Given the description of an element on the screen output the (x, y) to click on. 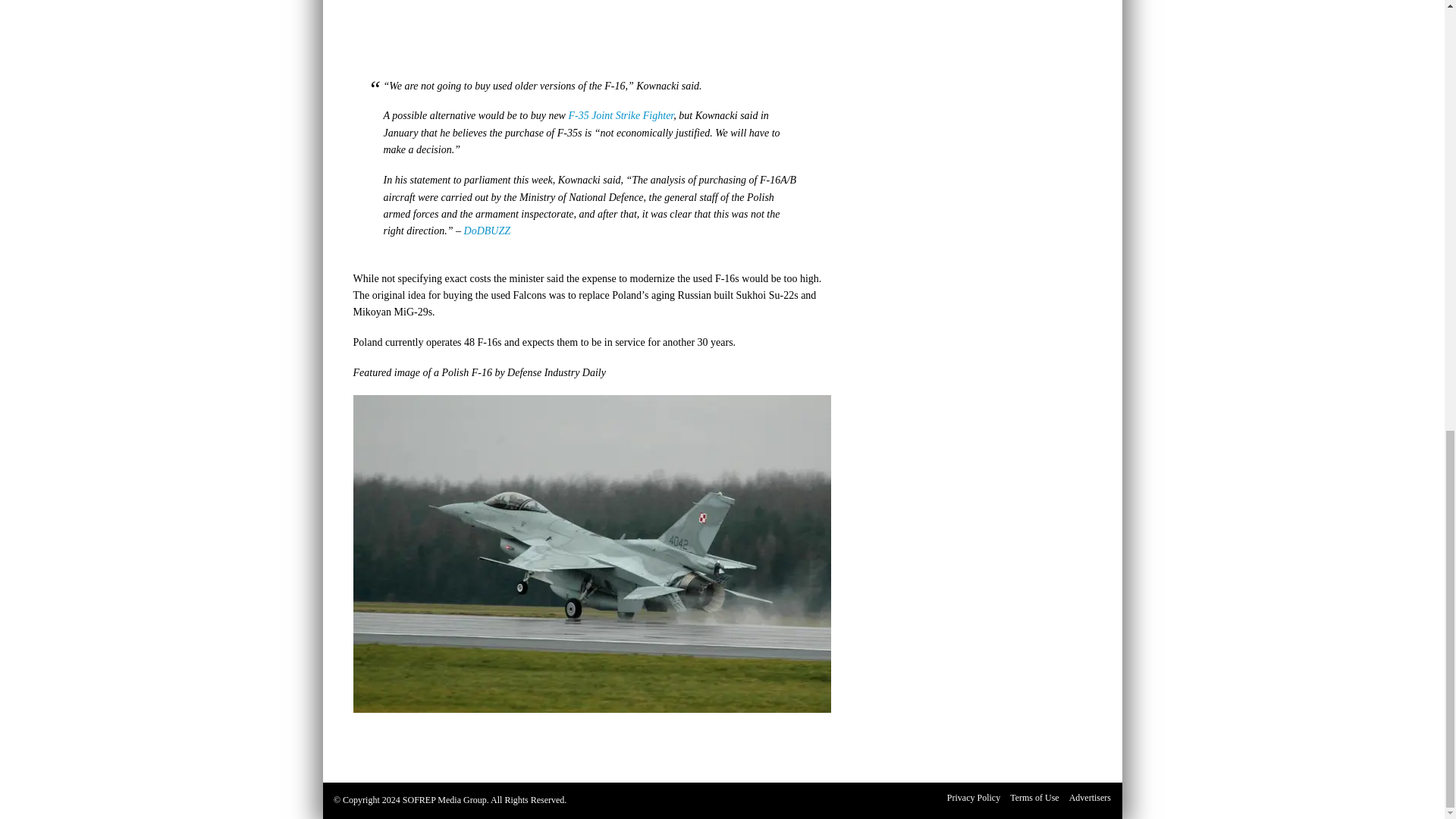
Terms of Use (1034, 797)
Advertisers (1089, 797)
DoDBUZZ (487, 230)
Privacy Policy (973, 797)
SOFREP Media Group (444, 799)
F-35 Joint Strike Fighter (619, 115)
